Given the description of an element on the screen output the (x, y) to click on. 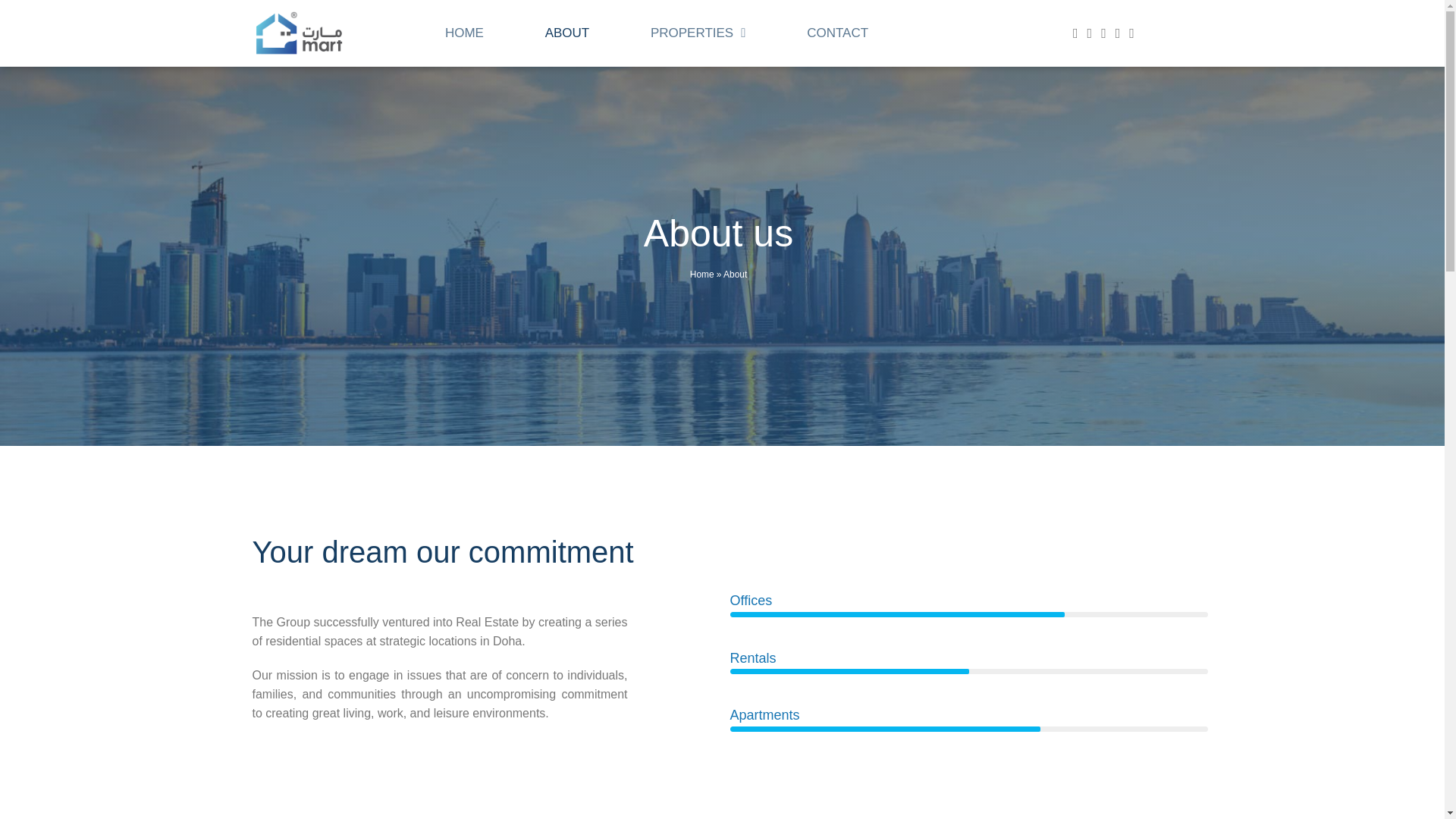
Your dream our commitment (442, 551)
HOME (463, 32)
Home (702, 274)
PROPERTIES (698, 32)
ABOUT (566, 32)
CONTACT (837, 32)
